Given the description of an element on the screen output the (x, y) to click on. 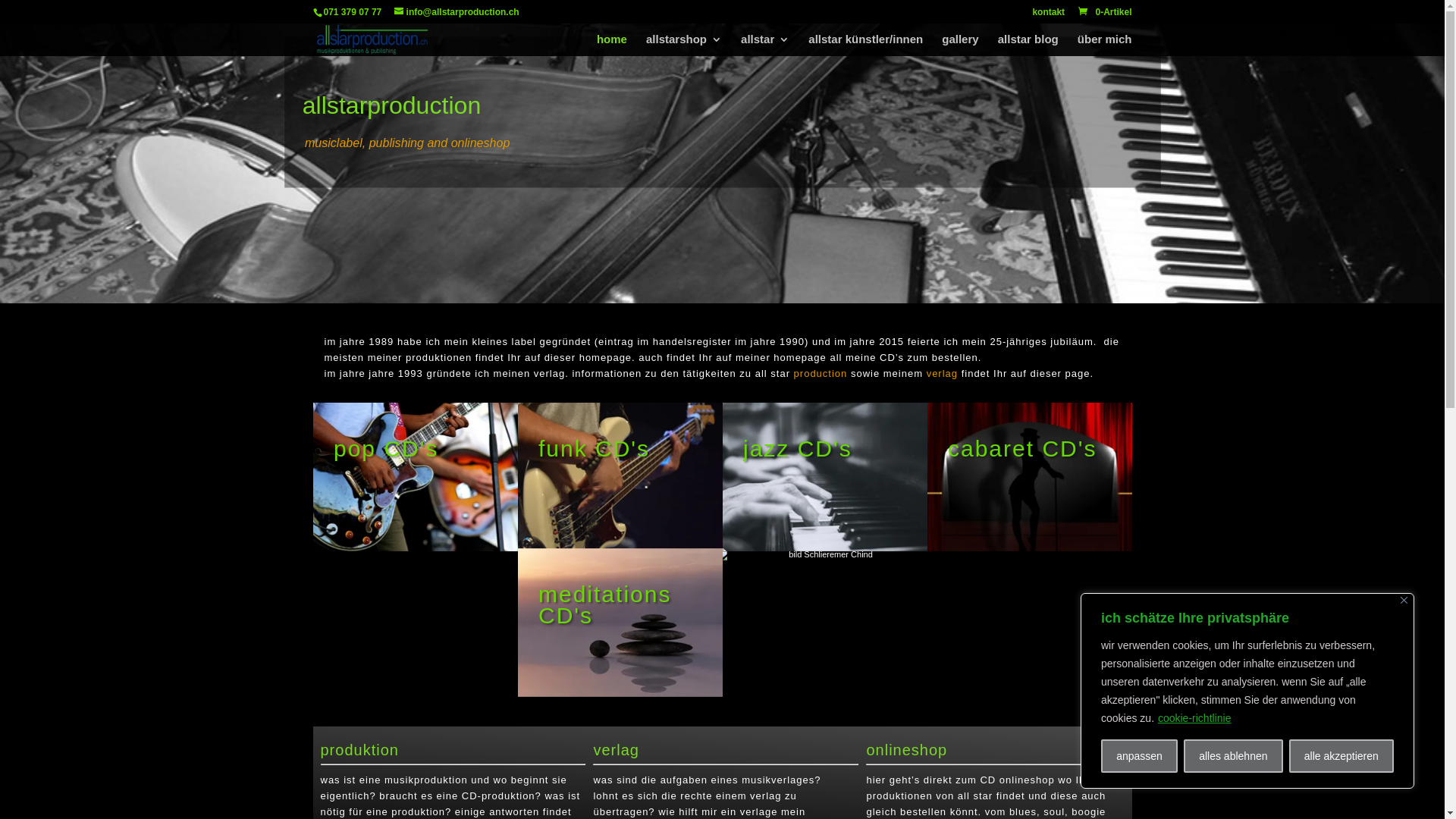
verlag Element type: text (941, 373)
anpassen Element type: text (1139, 755)
cookie-richtlinie Element type: text (1194, 717)
allstar blog Element type: text (1027, 45)
alles ablehnen Element type: text (1233, 755)
allstarshop Element type: text (683, 45)
0-Artikel Element type: text (1103, 11)
home Element type: text (611, 45)
info@allstarproduction.ch Element type: text (456, 11)
alle akzeptieren Element type: text (1341, 755)
gallery Element type: text (959, 45)
kontakt Element type: text (1048, 15)
production Element type: text (820, 373)
allstar Element type: text (764, 45)
